Given the description of an element on the screen output the (x, y) to click on. 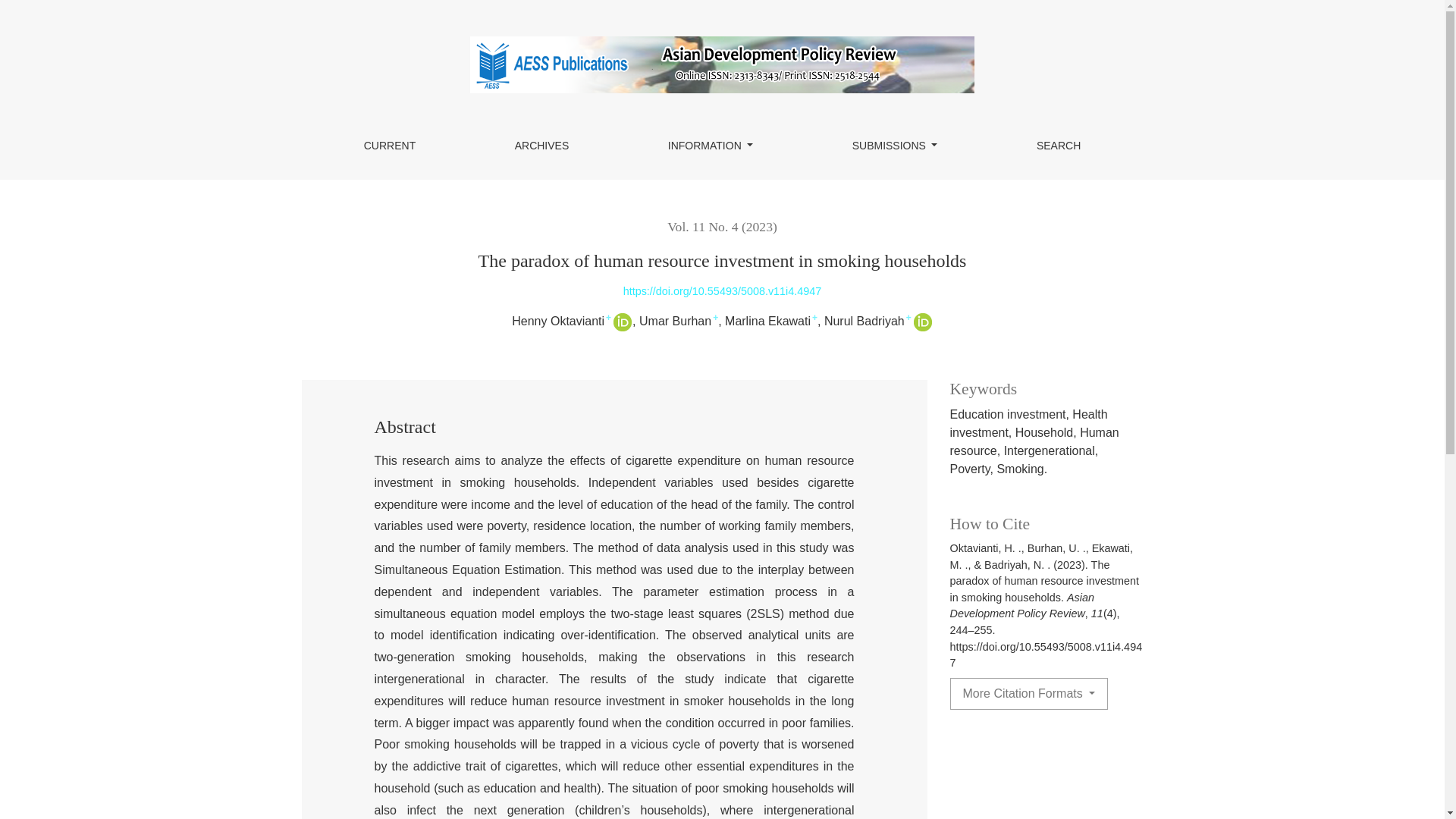
More Citation Formats (1028, 694)
ARCHIVES (542, 144)
SUBMISSIONS (895, 144)
SEARCH (1058, 144)
INFORMATION (710, 144)
CURRENT (389, 144)
